Given the description of an element on the screen output the (x, y) to click on. 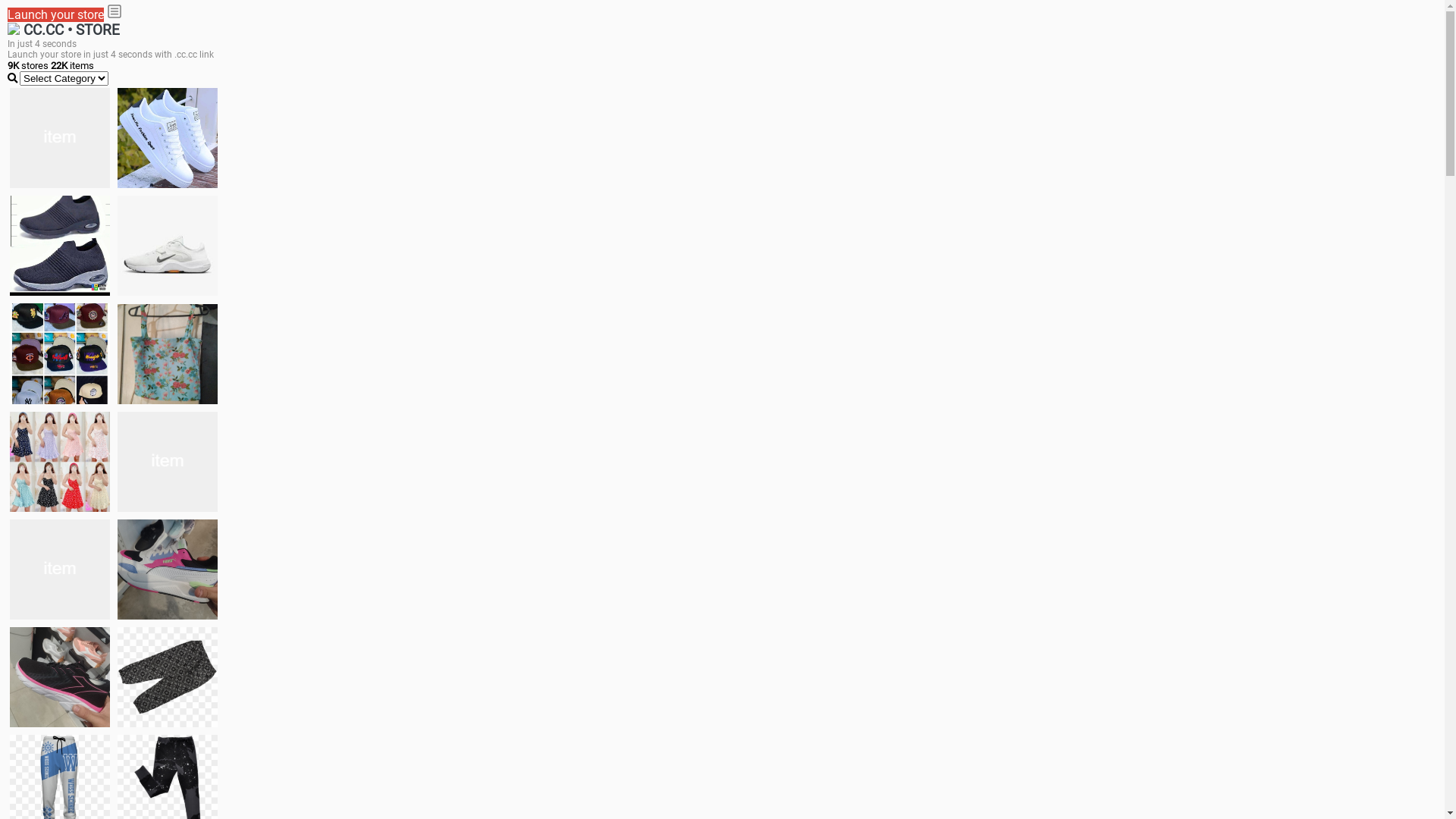
Launch your store Element type: text (55, 14)
Things we need Element type: hover (59, 353)
Shoes Element type: hover (167, 461)
shoes for boys Element type: hover (59, 245)
jacket Element type: hover (59, 137)
Dress/square nect top Element type: hover (59, 461)
Short pant Element type: hover (167, 676)
white shoes Element type: hover (167, 137)
Shoes for boys Element type: hover (167, 245)
Ukay cloth Element type: hover (167, 353)
Zapatillas pumas Element type: hover (167, 568)
Zapatillas Element type: hover (59, 677)
